Given the description of an element on the screen output the (x, y) to click on. 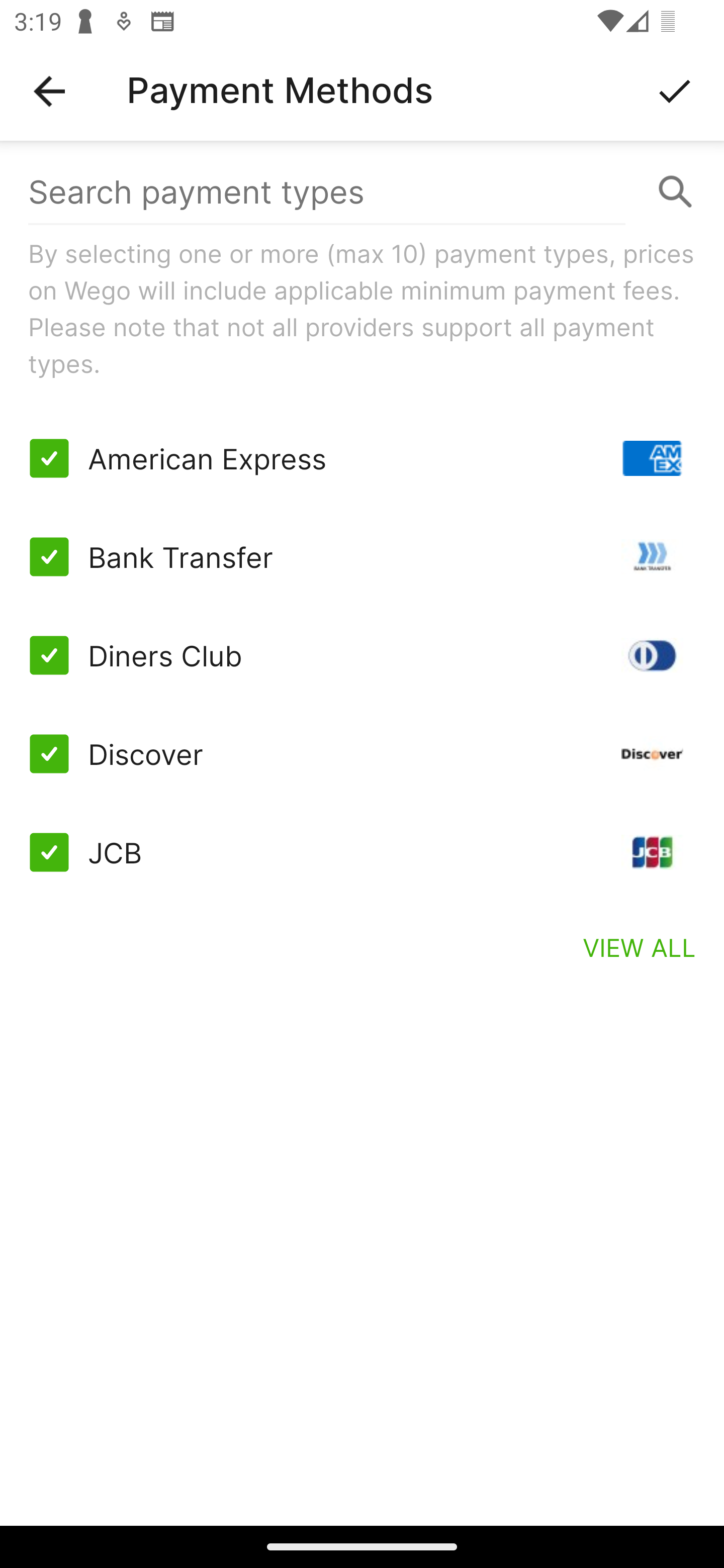
Search payment types  (361, 191)
American Express (362, 458)
Bank Transfer (362, 557)
Diners Club (362, 655)
Discover (362, 753)
JCB (362, 851)
VIEW ALL (639, 946)
